Given the description of an element on the screen output the (x, y) to click on. 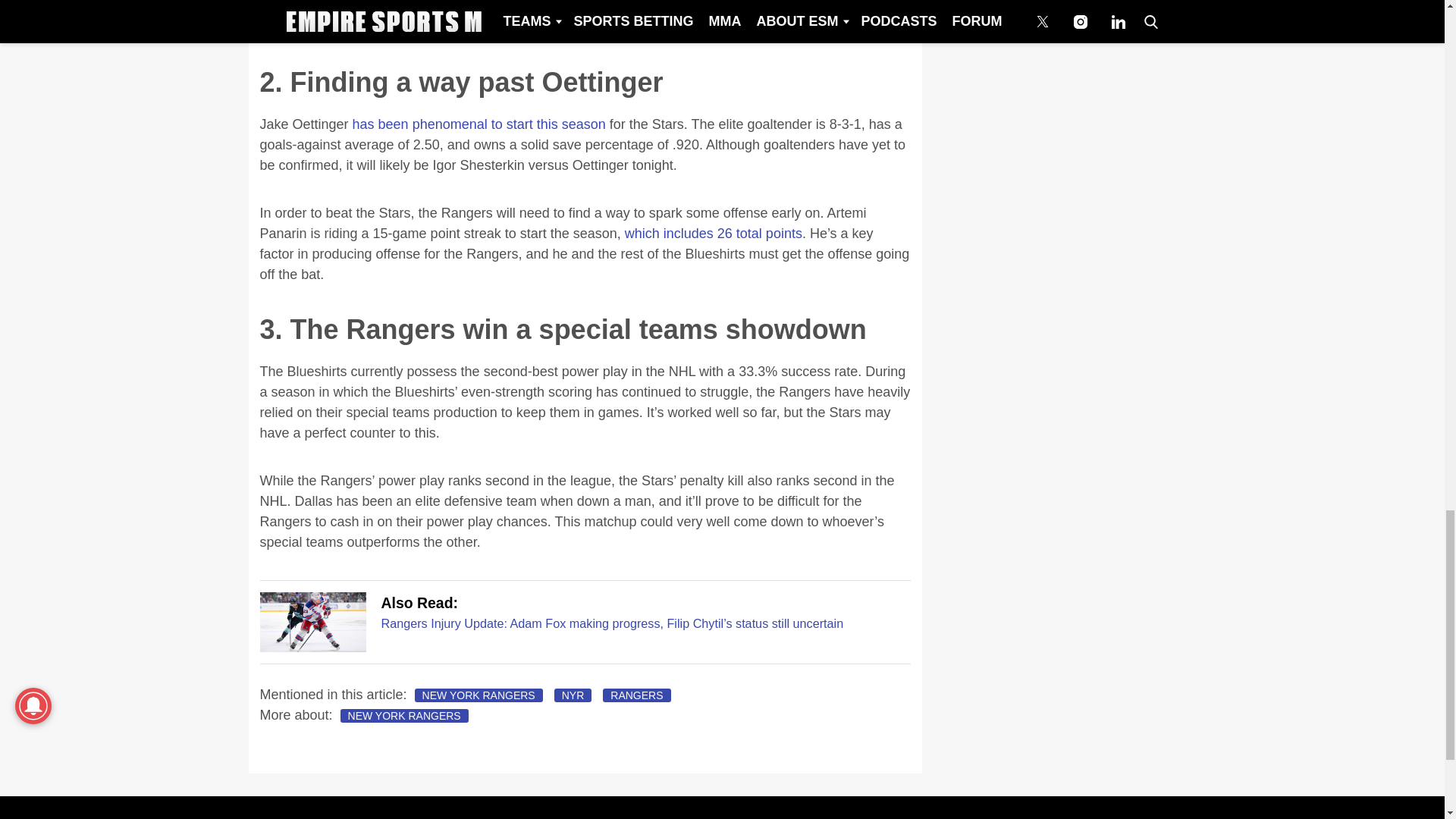
has been phenomenal to start this season (478, 124)
which includes 26 total points (713, 233)
